Given the description of an element on the screen output the (x, y) to click on. 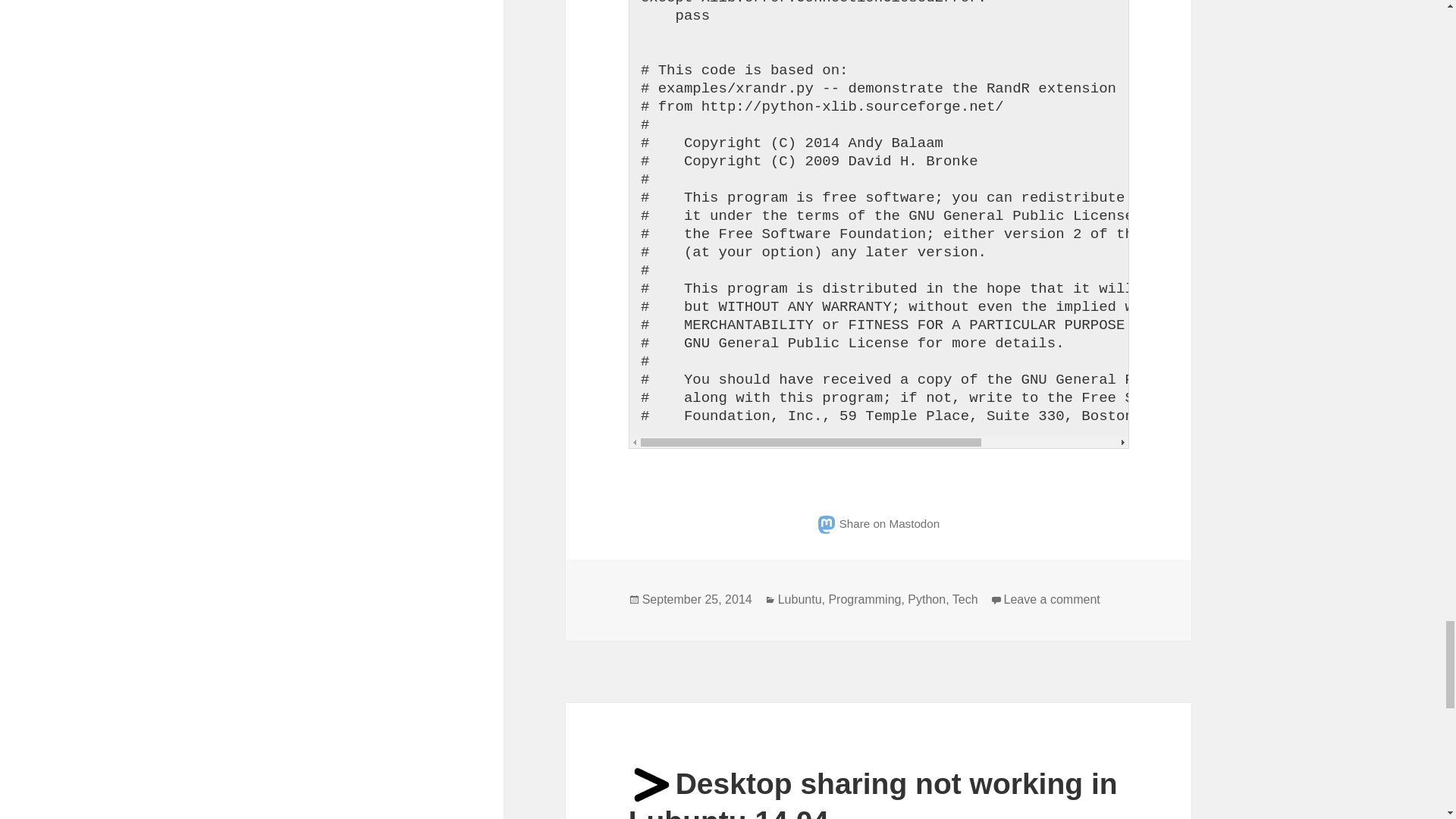
Toot on Mastodon (877, 522)
